Given the description of an element on the screen output the (x, y) to click on. 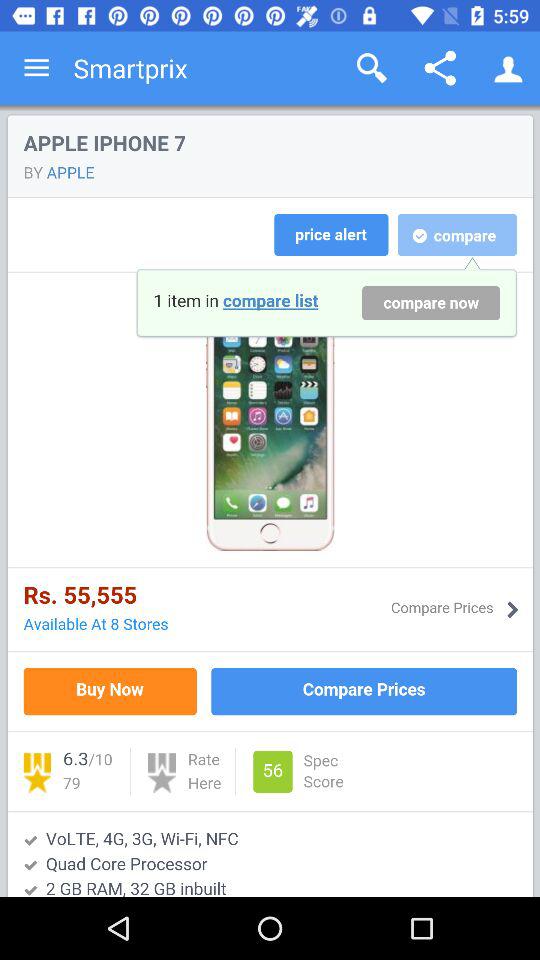
phone add (270, 501)
